Given the description of an element on the screen output the (x, y) to click on. 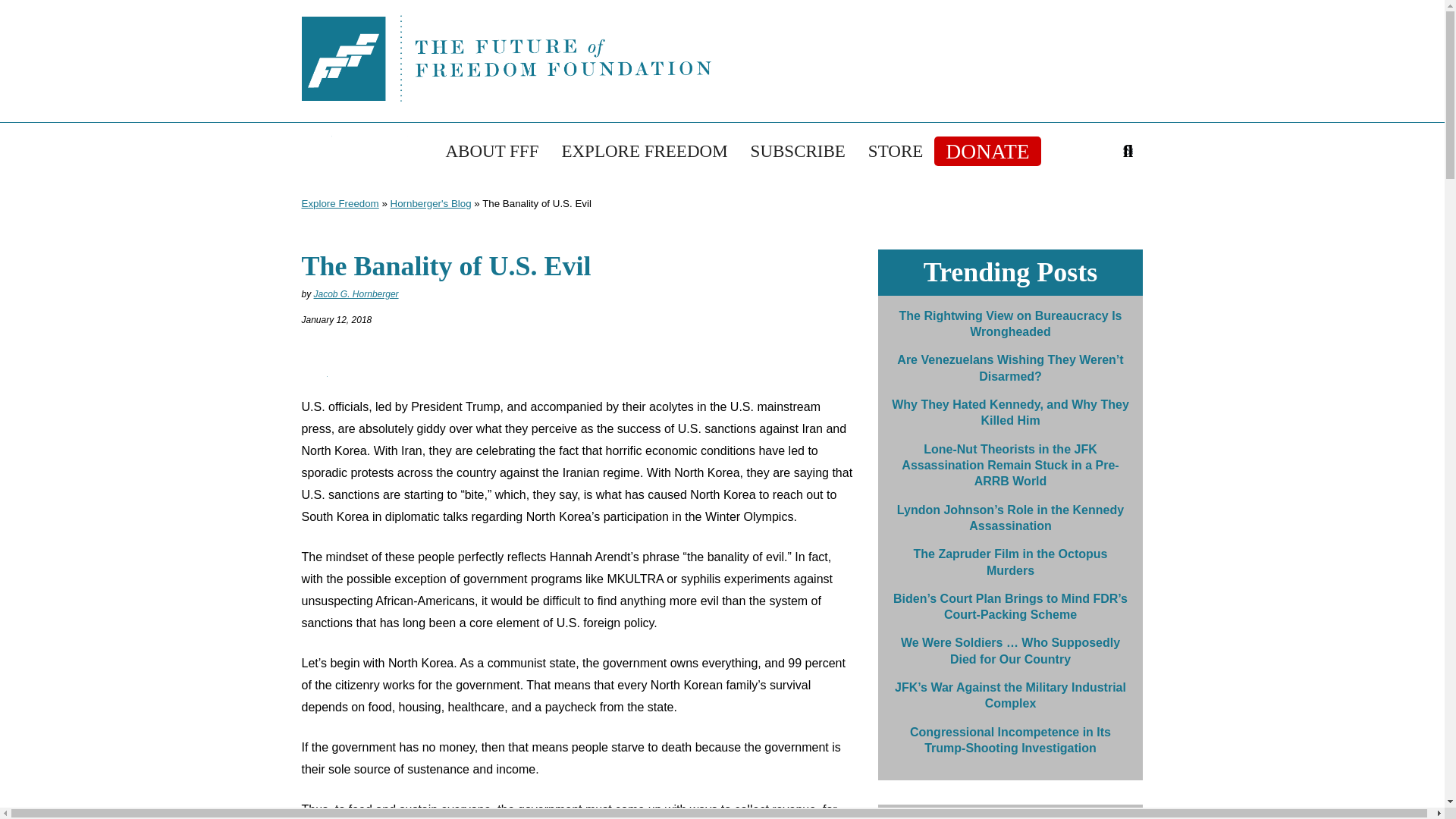
SUBSCRIBE (798, 151)
EXPLORE FREEDOM (644, 151)
Hornberger's Blog (430, 203)
Facebook (354, 150)
Follow FFF on Twitter (316, 150)
DONATE (987, 151)
Jacob G. Hornberger (356, 294)
Subscribe to our YouTube Channel (392, 150)
YouTube (392, 150)
Connect with FFF on Facebook (354, 150)
ABOUT FFF (491, 151)
EMAIL (319, 368)
Explore Freedom (339, 203)
Twitter (316, 150)
